Given the description of an element on the screen output the (x, y) to click on. 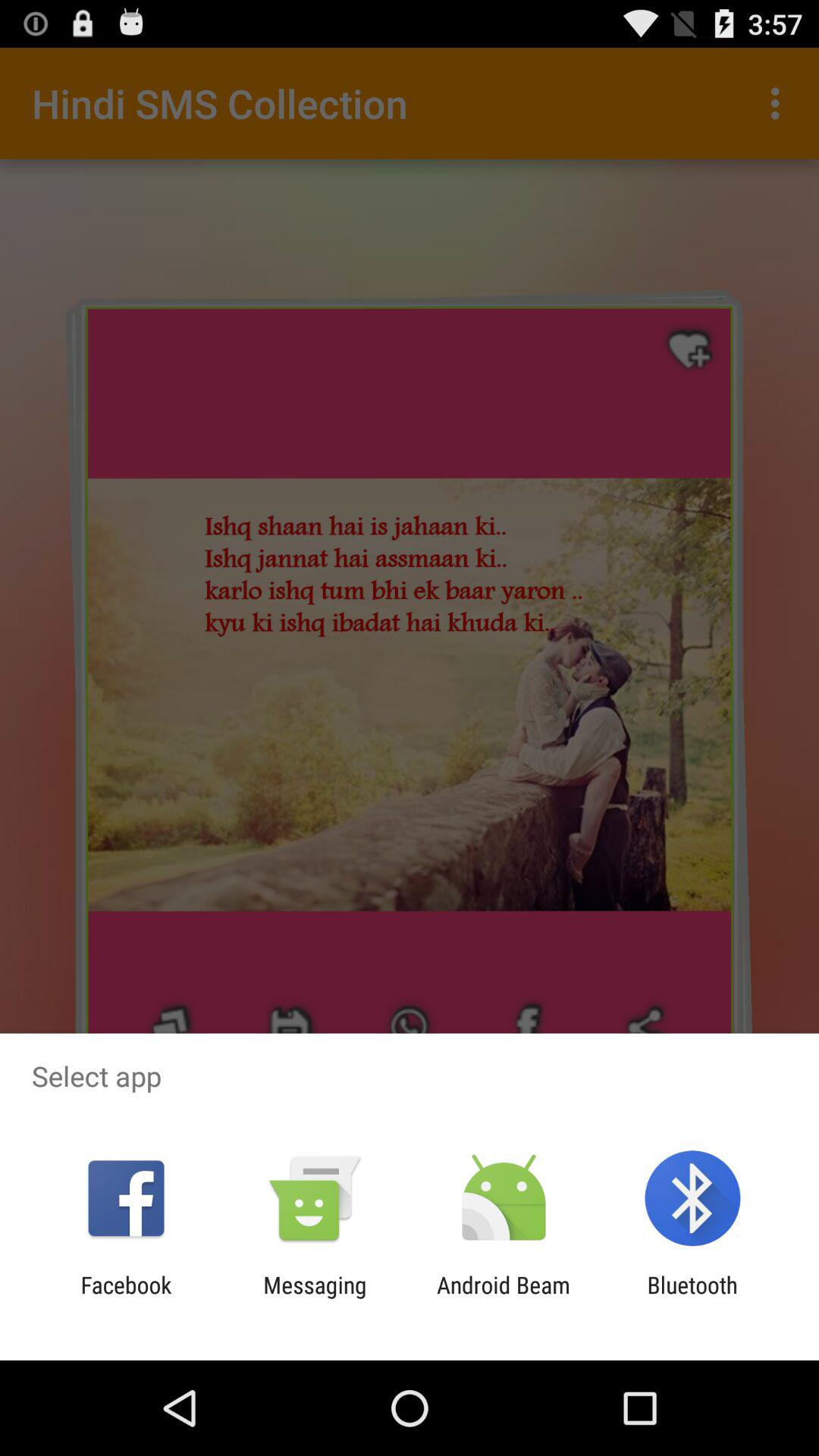
open item to the right of messaging (503, 1298)
